Given the description of an element on the screen output the (x, y) to click on. 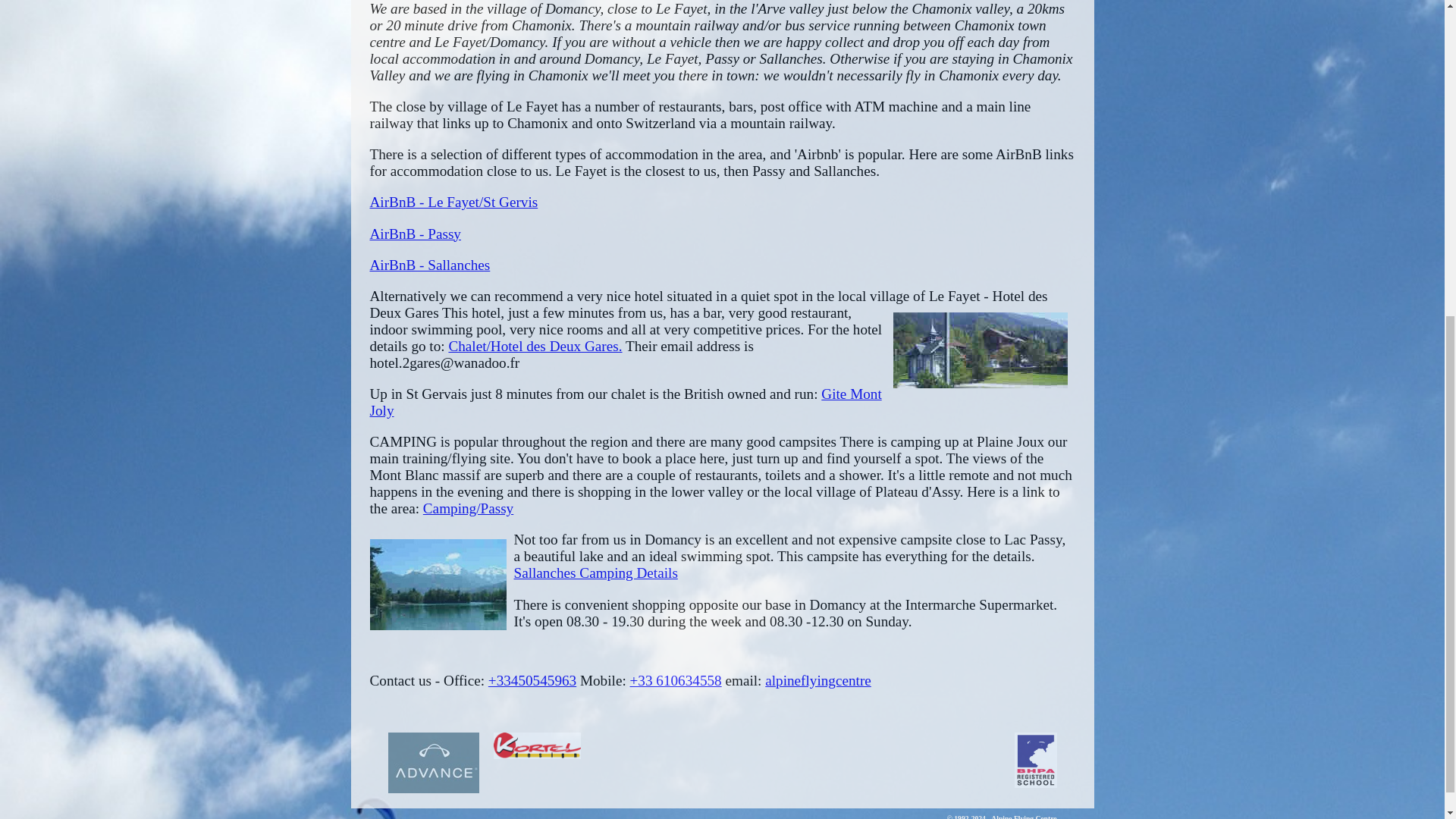
AirBnB - Passy (415, 233)
AirBnB - Sallanches (429, 264)
Sallanches Camping Details (595, 572)
